Given the description of an element on the screen output the (x, y) to click on. 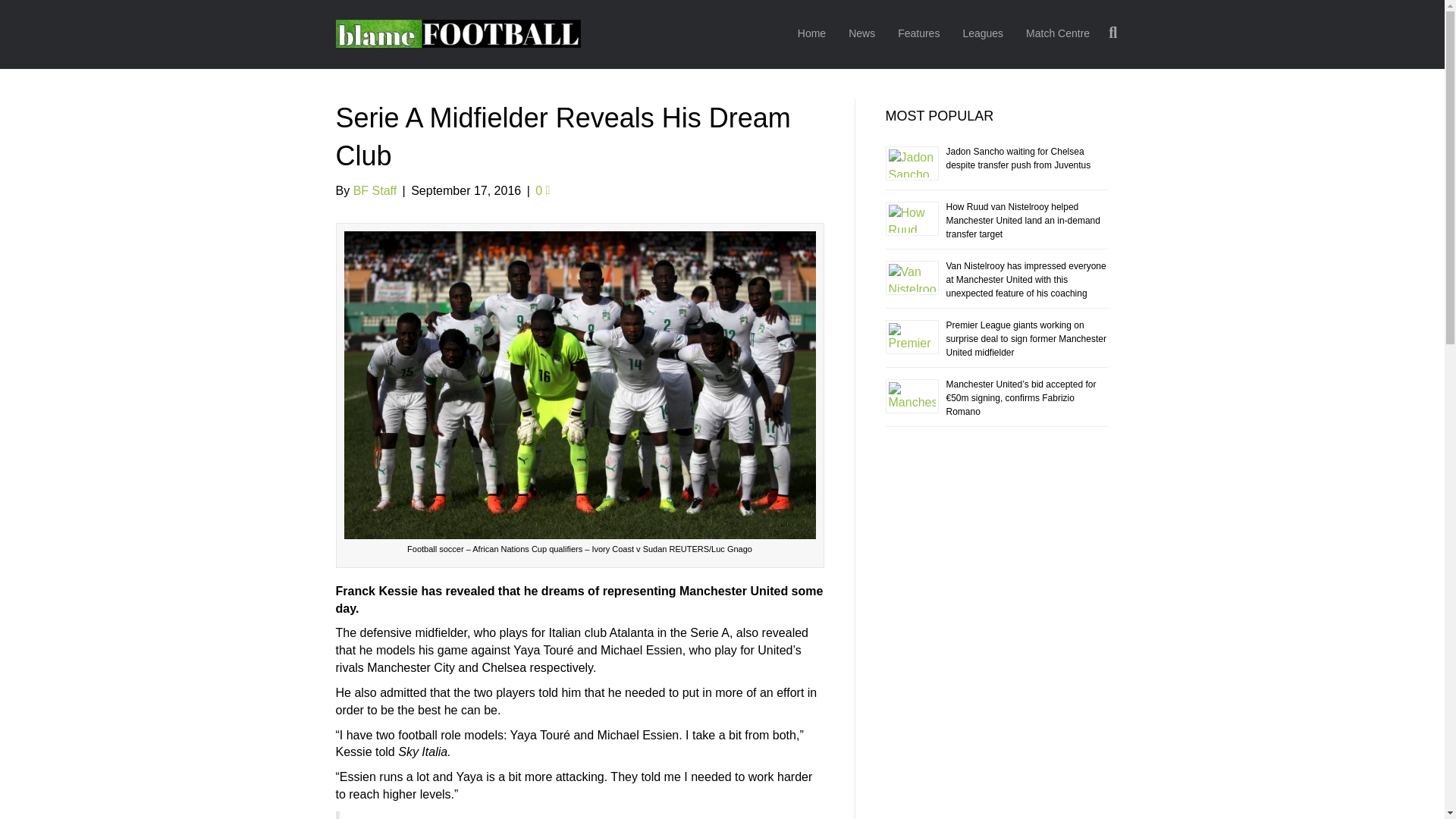
Match Centre (1057, 34)
Features (918, 34)
Leagues (982, 34)
News (861, 34)
Home (811, 34)
